Given the description of an element on the screen output the (x, y) to click on. 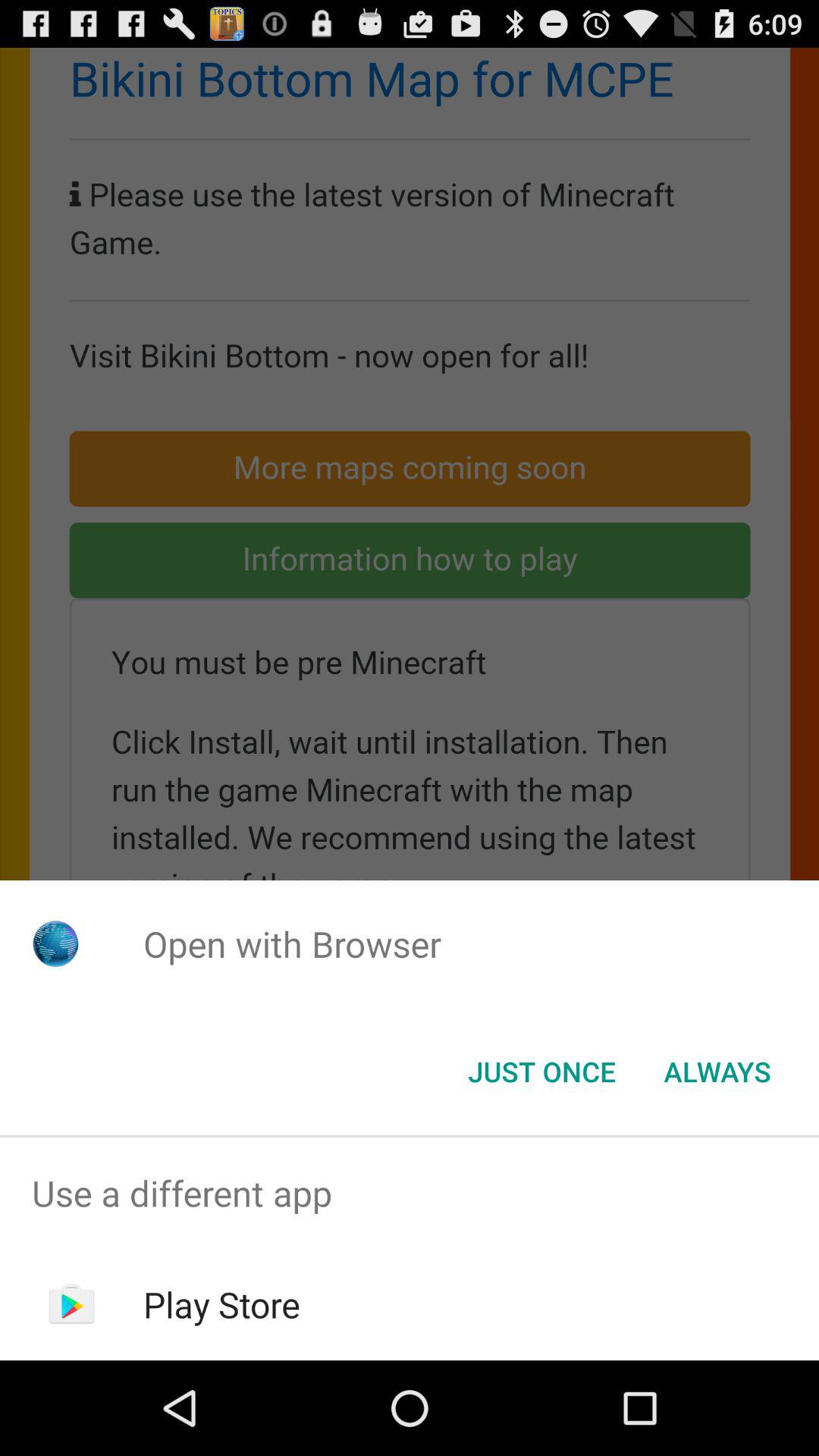
turn on the item to the left of always (541, 1071)
